Given the description of an element on the screen output the (x, y) to click on. 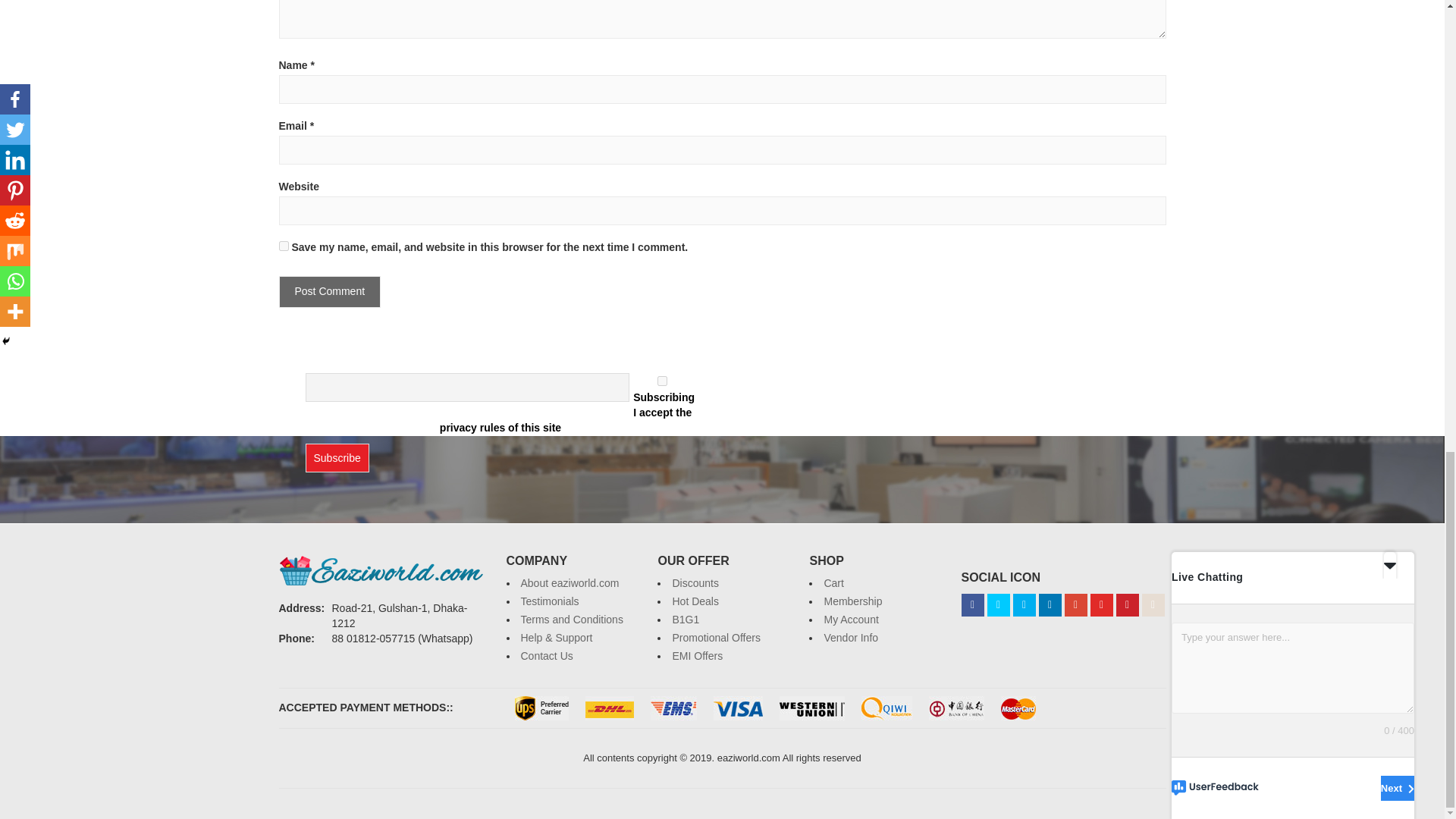
yes (283, 245)
on (662, 380)
Subscribe (336, 457)
Post Comment (330, 291)
